Given the description of an element on the screen output the (x, y) to click on. 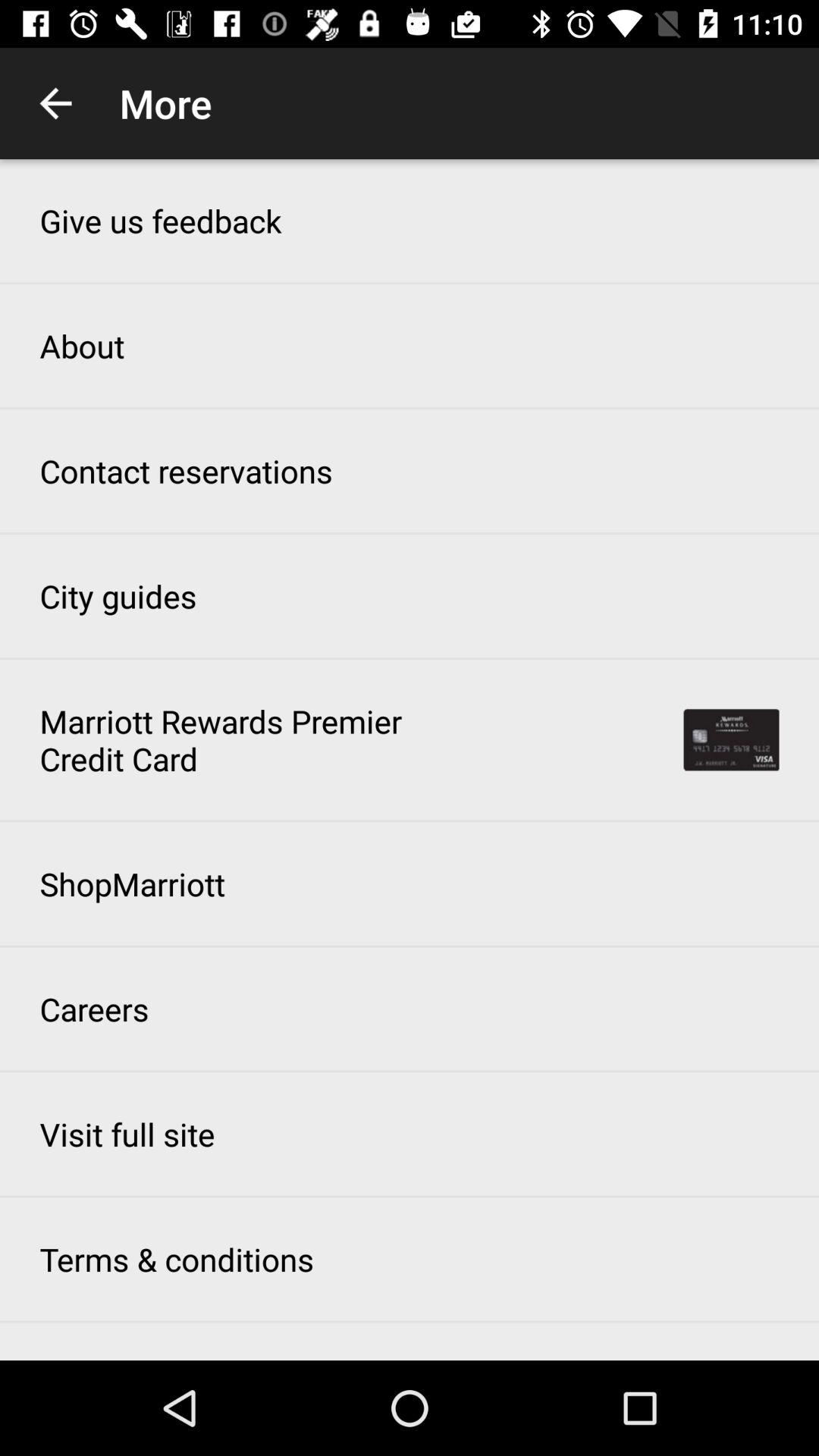
launch the item below careers icon (126, 1133)
